Given the description of an element on the screen output the (x, y) to click on. 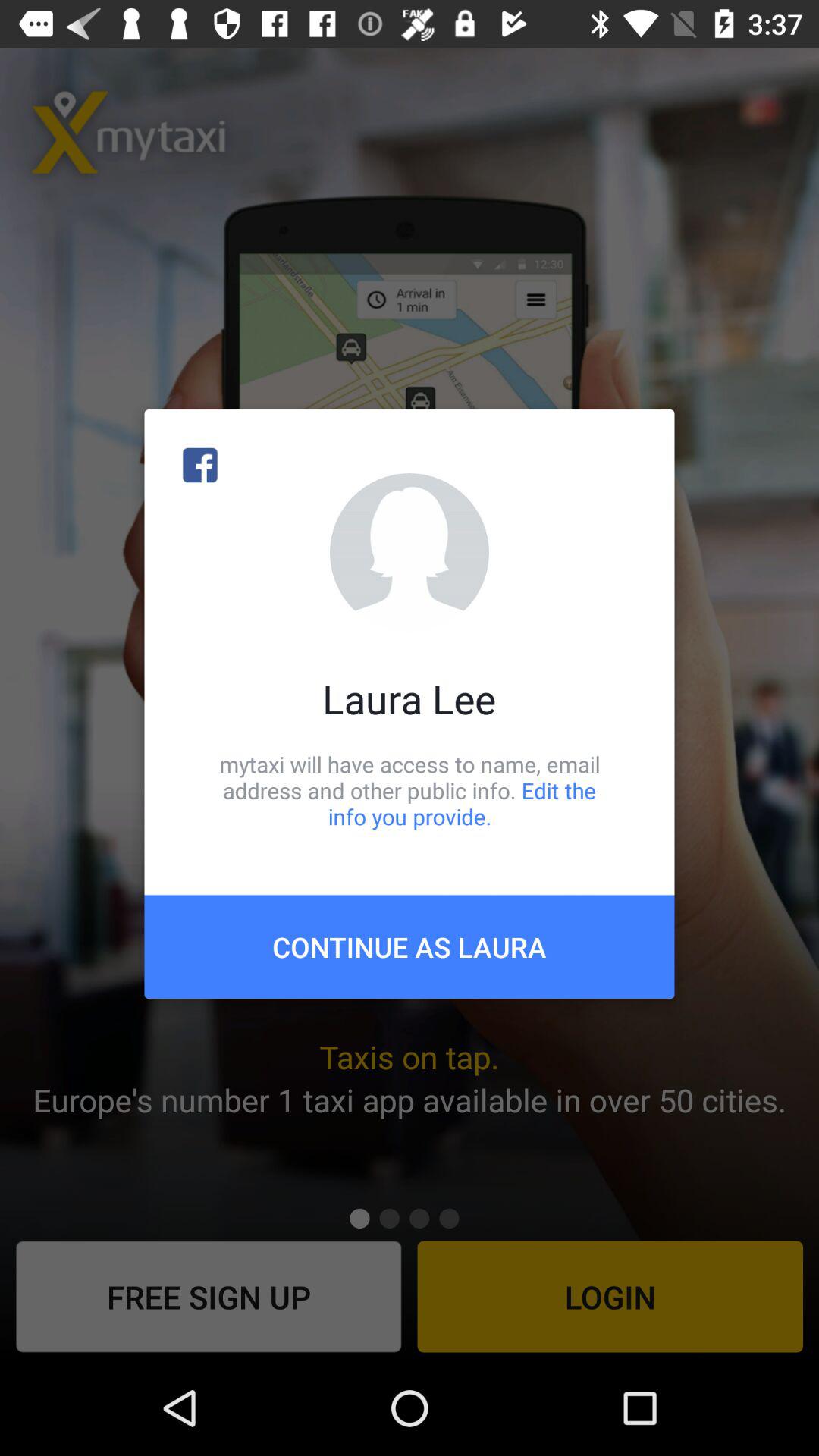
launch the continue as laura item (409, 946)
